Given the description of an element on the screen output the (x, y) to click on. 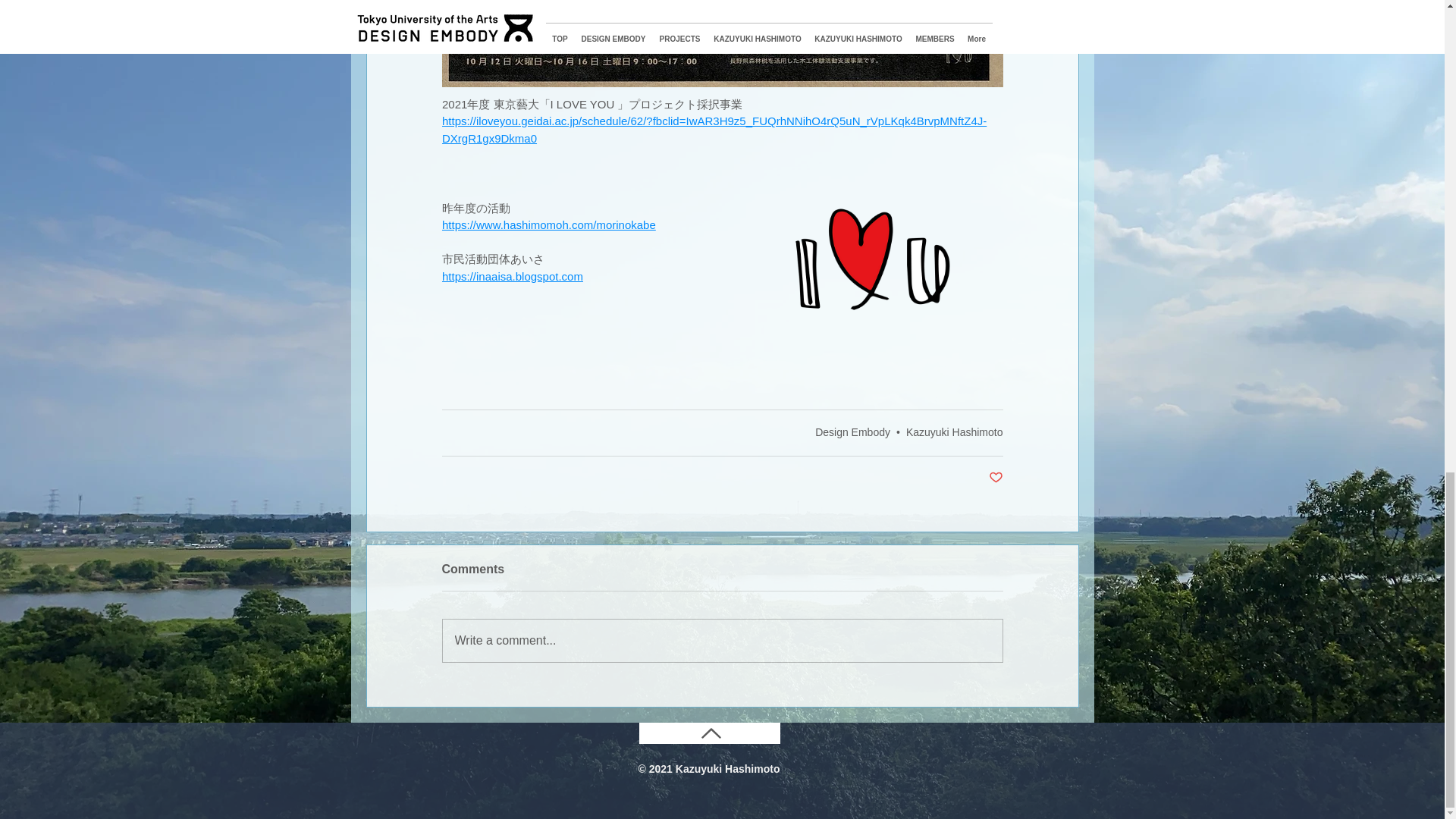
Design Embody (852, 431)
Write a comment... (722, 640)
Kazuyuki Hashimoto (954, 431)
Post not marked as liked (995, 478)
